Given the description of an element on the screen output the (x, y) to click on. 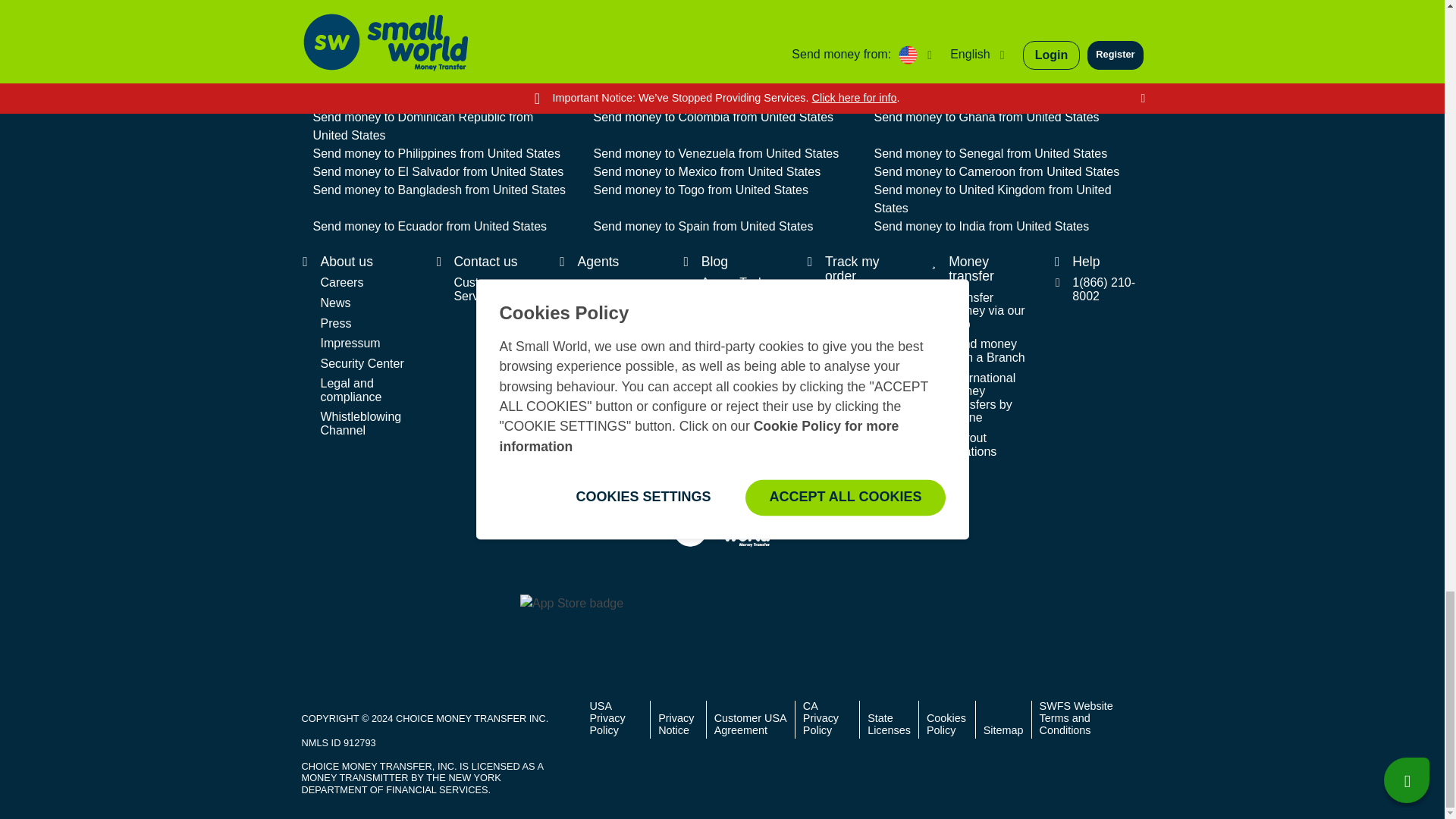
twitter (657, 37)
Instagram (721, 37)
linkedin (786, 37)
youtube  (850, 37)
small world money transfer (721, 528)
FAcebook (593, 37)
